Given the description of an element on the screen output the (x, y) to click on. 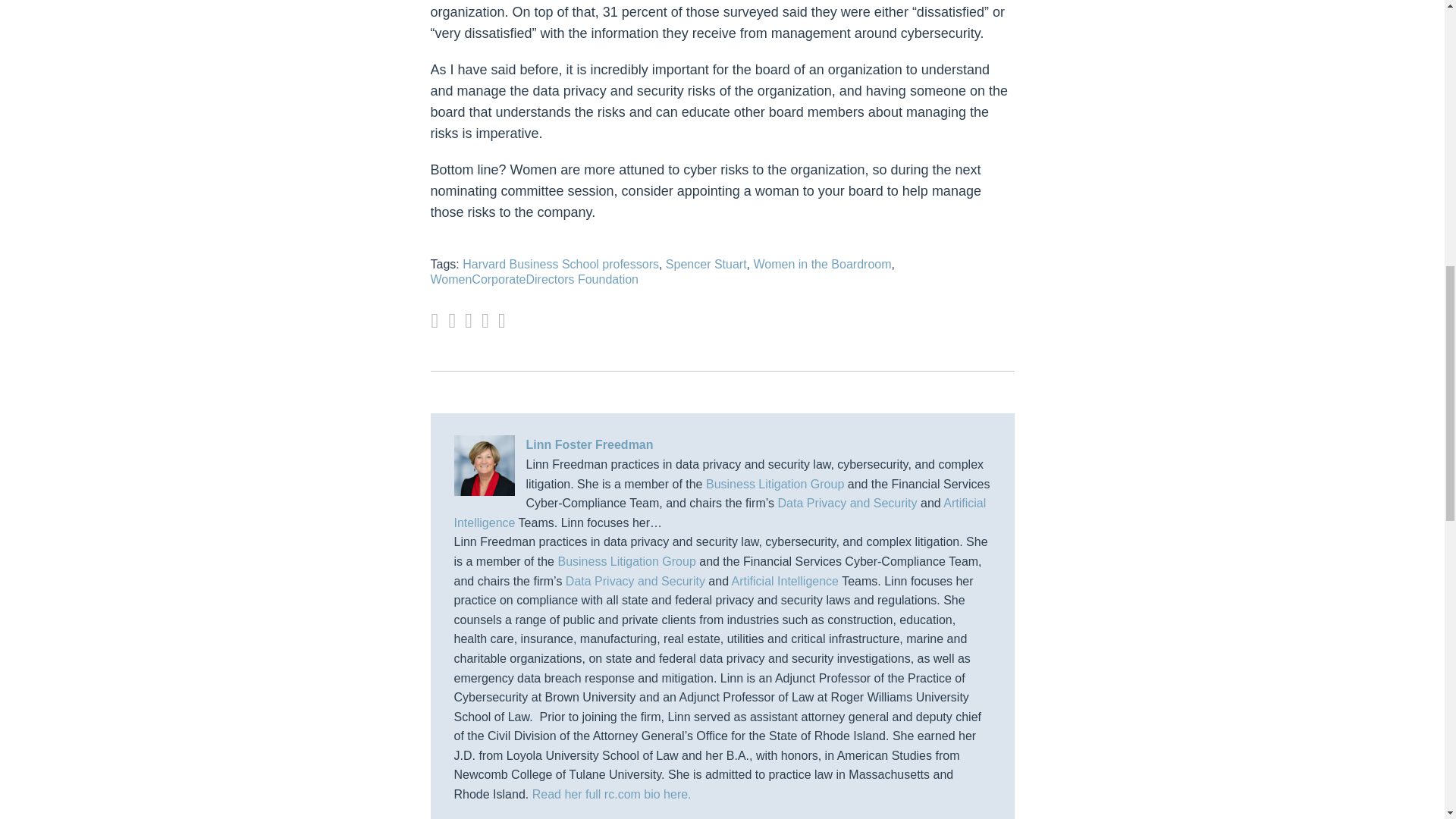
Data Privacy and Security (847, 502)
Business Litigation Group (775, 483)
Read her full rc.com bio here. (611, 793)
WomenCorporateDirectors Foundation (534, 278)
Harvard Business School professors (561, 264)
Linn Foster Freedman (721, 444)
Artificial Intelligence (718, 512)
Spencer Stuart (705, 264)
Artificial Intelligence (785, 581)
Data Privacy and Security (635, 581)
